Given the description of an element on the screen output the (x, y) to click on. 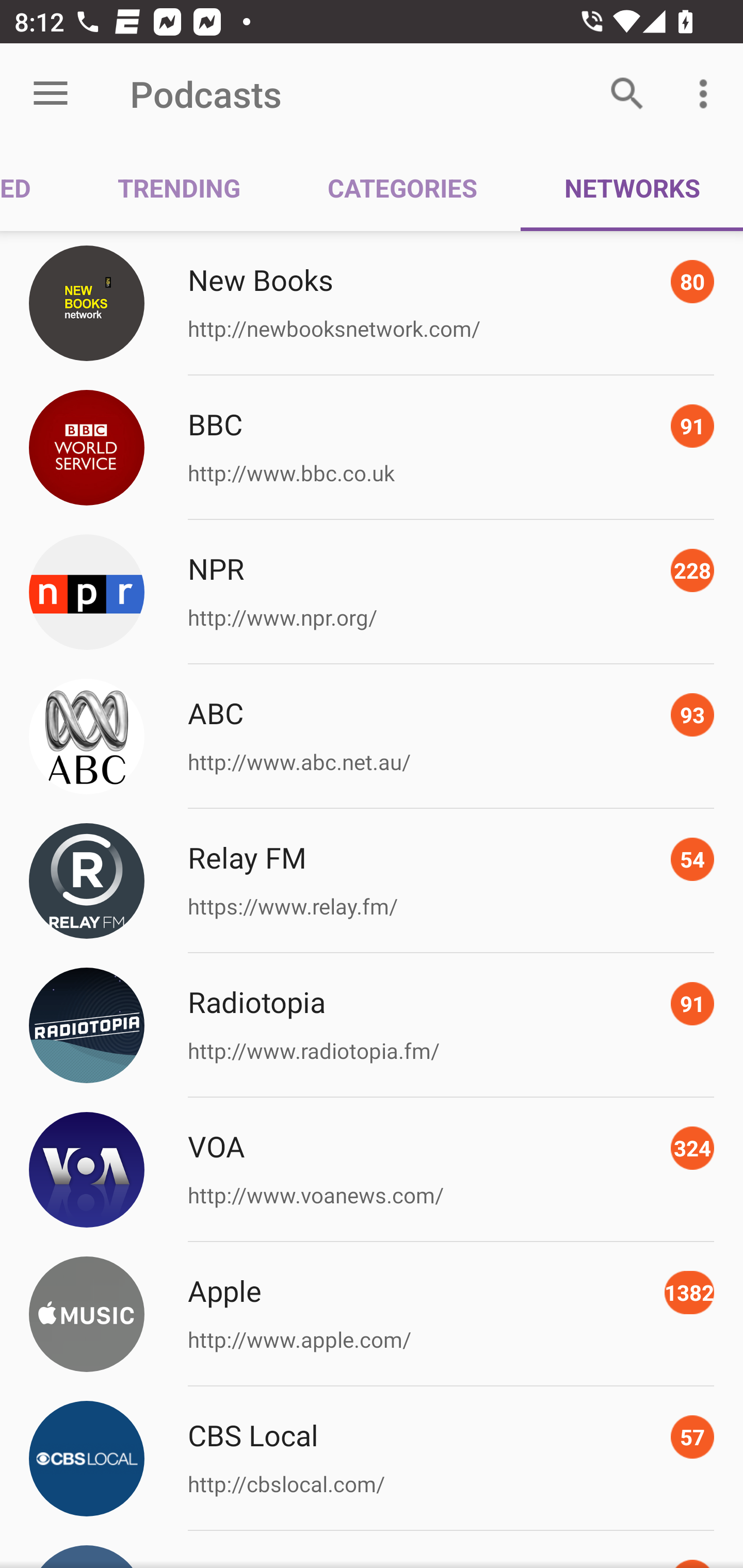
Open menu (50, 93)
Search (626, 93)
More options (706, 93)
TRENDING (178, 187)
CATEGORIES (401, 187)
NETWORKS (631, 187)
Picture New Books 80 http://newbooksnetwork.com/ (371, 302)
Picture BBC 91 http://www.bbc.co.uk (371, 447)
Picture NPR 228 http://www.npr.org/ (371, 592)
Picture ABC 93 http://www.abc.net.au/ (371, 736)
Picture Relay FM 54 https://www.relay.fm/ (371, 881)
Picture Radiotopia 91 http://www.radiotopia.fm/ (371, 1025)
Picture VOA 324 http://www.voanews.com/ (371, 1169)
Picture Apple 1382 http://www.apple.com/ (371, 1313)
Picture CBS Local 57 http://cbslocal.com/ (371, 1458)
